Given the description of an element on the screen output the (x, y) to click on. 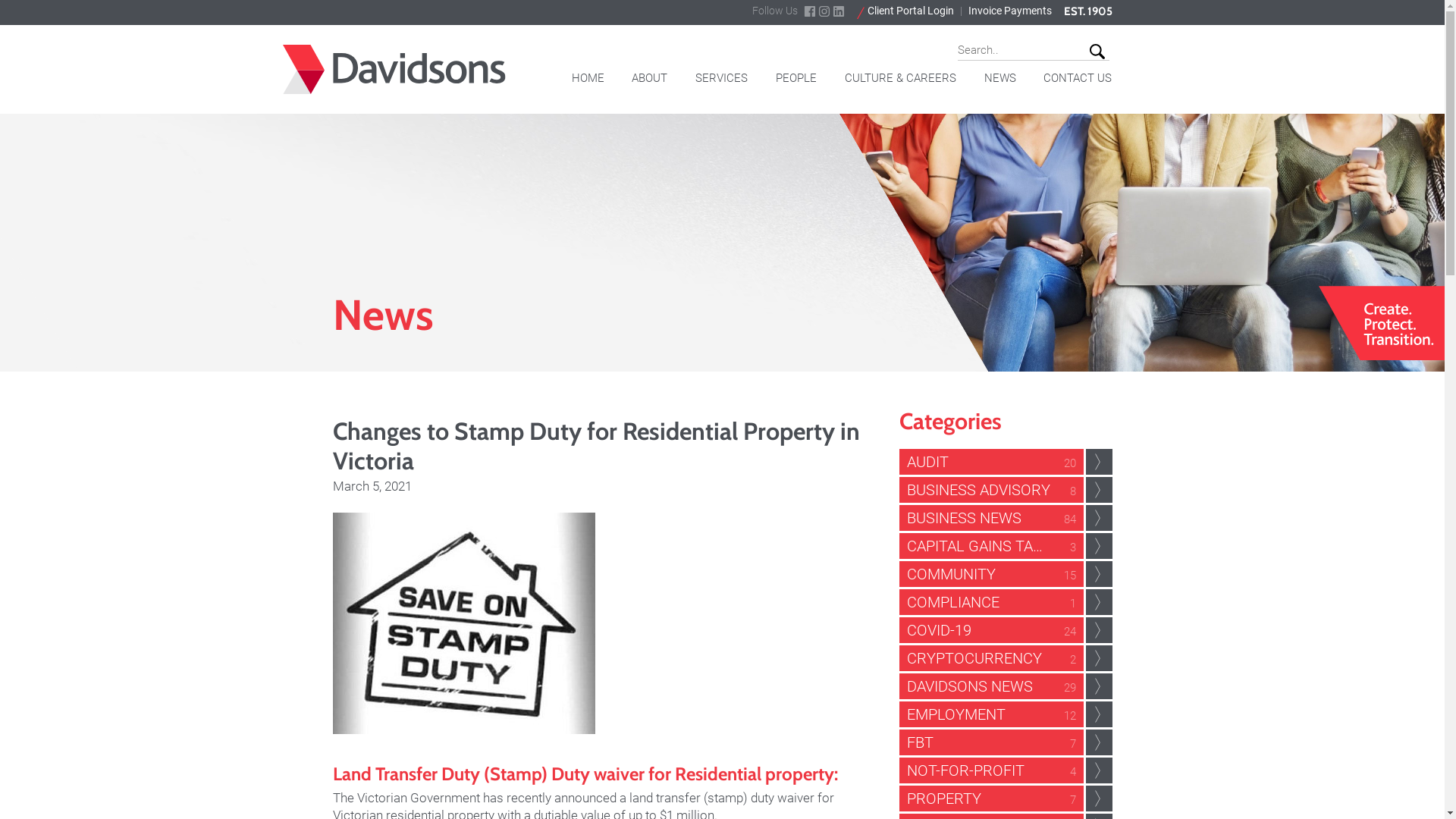
COMMUNITY
15 Element type: text (1005, 573)
COVID-19
24 Element type: text (1005, 630)
NEWS Element type: text (1000, 82)
COMPLIANCE
1 Element type: text (1005, 602)
CONTACT US Element type: text (1077, 82)
linkdin Element type: text (838, 11)
PEOPLE Element type: text (795, 82)
ABOUT Element type: text (649, 82)
CRYPTOCURRENCY
2 Element type: text (1005, 658)
EMPLOYMENT
12 Element type: text (1005, 714)
CAPITAL GAINS TAX CGT
3 Element type: text (1005, 545)
BUSINESS ADVISORY
8 Element type: text (1005, 489)
NOT-FOR-PROFIT
4 Element type: text (1005, 770)
facebook Element type: text (809, 11)
BUSINESS NEWS
84 Element type: text (1005, 517)
PROPERTY
7 Element type: text (1005, 798)
AUDIT
20 Element type: text (1005, 461)
instagram Element type: text (824, 11)
Changes to Stamp Duty for Residential Property in Victoria Element type: hover (463, 623)
CULTURE & CAREERS Element type: text (900, 82)
FBT
7 Element type: text (1005, 742)
Invoice Payments Element type: text (1009, 10)
Client Portal Login Element type: text (904, 12)
DAVIDSONS NEWS
29 Element type: text (1005, 686)
HOME Element type: text (587, 82)
SERVICES Element type: text (721, 82)
